Given the description of an element on the screen output the (x, y) to click on. 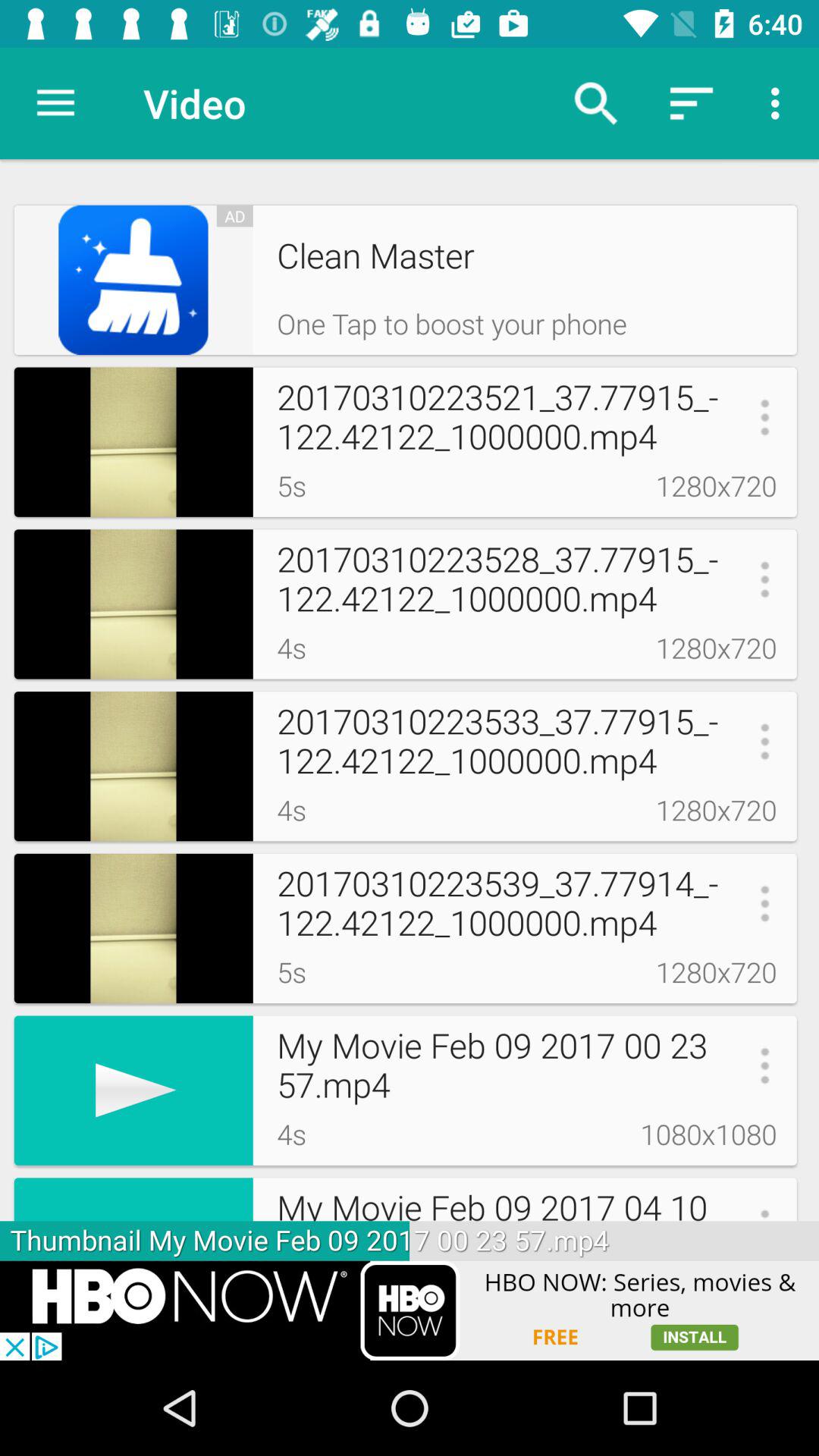
go to advertisement (409, 1310)
